Given the description of an element on the screen output the (x, y) to click on. 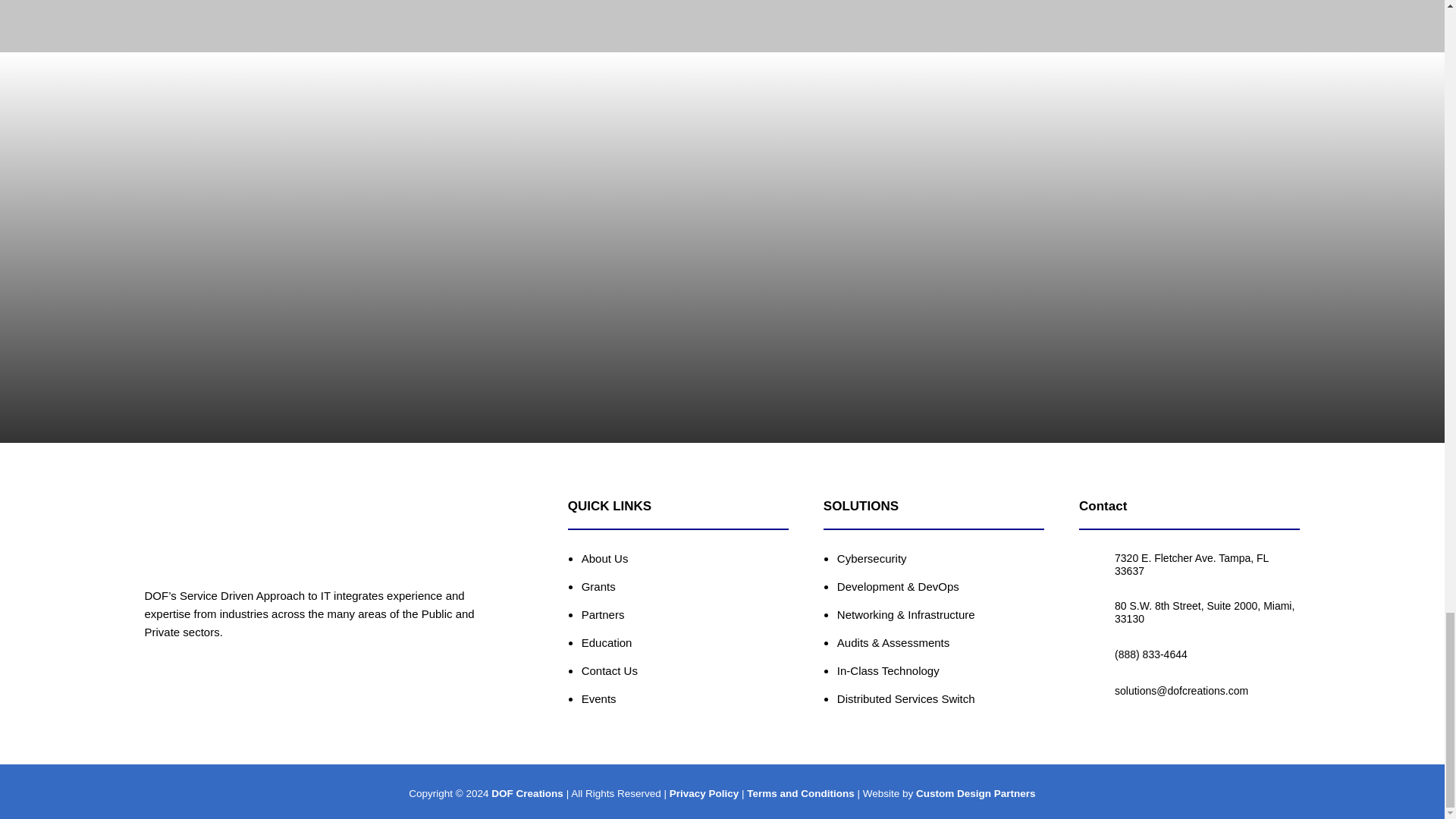
dof-creations (204, 530)
Linkedin (170, 685)
